Given the description of an element on the screen output the (x, y) to click on. 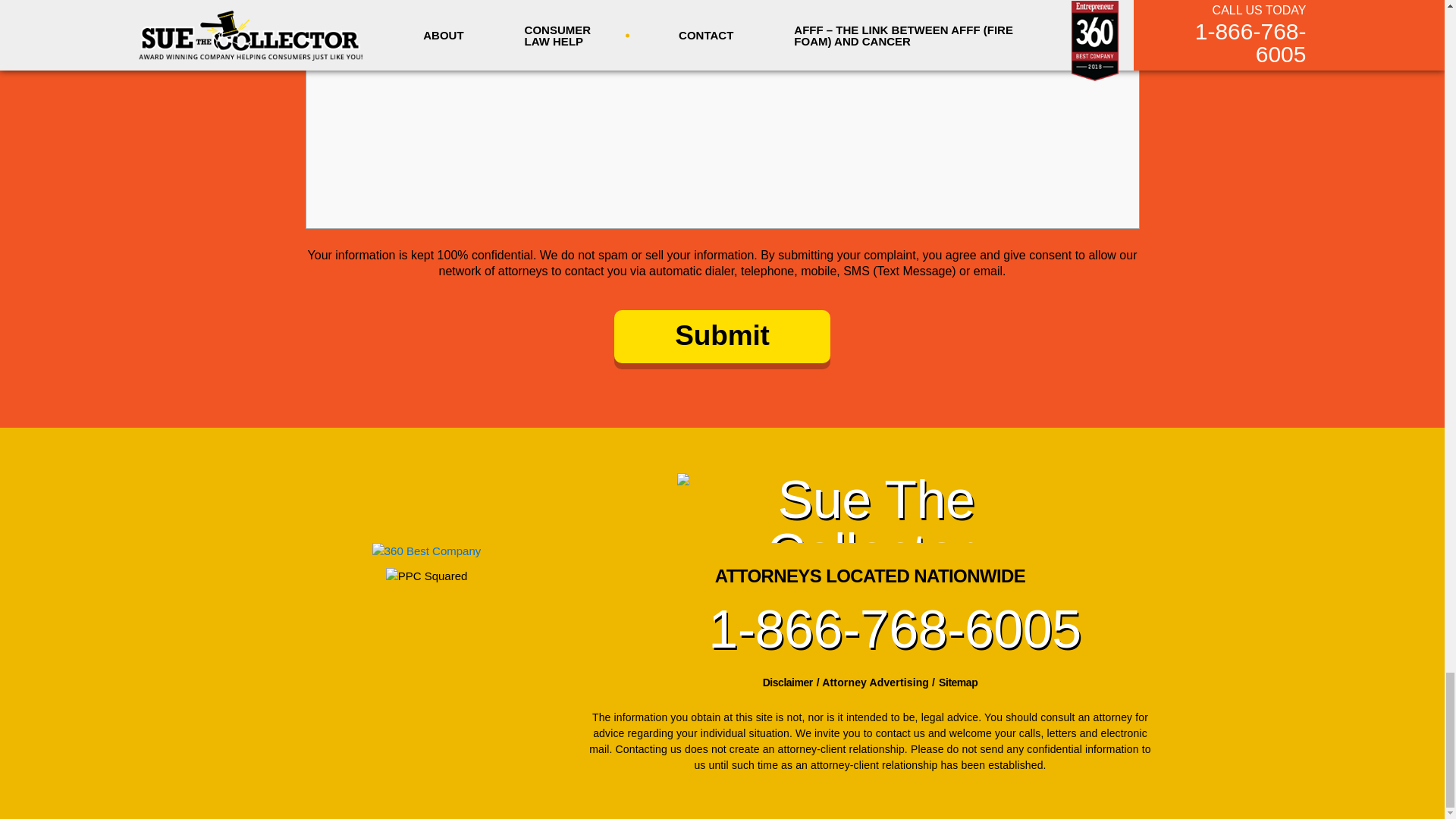
360 Badge Best Company 2018 (426, 543)
1-866-768-6005 (869, 629)
Submit (721, 336)
Sue The Collector (869, 507)
360 Best Company (426, 551)
